Given the description of an element on the screen output the (x, y) to click on. 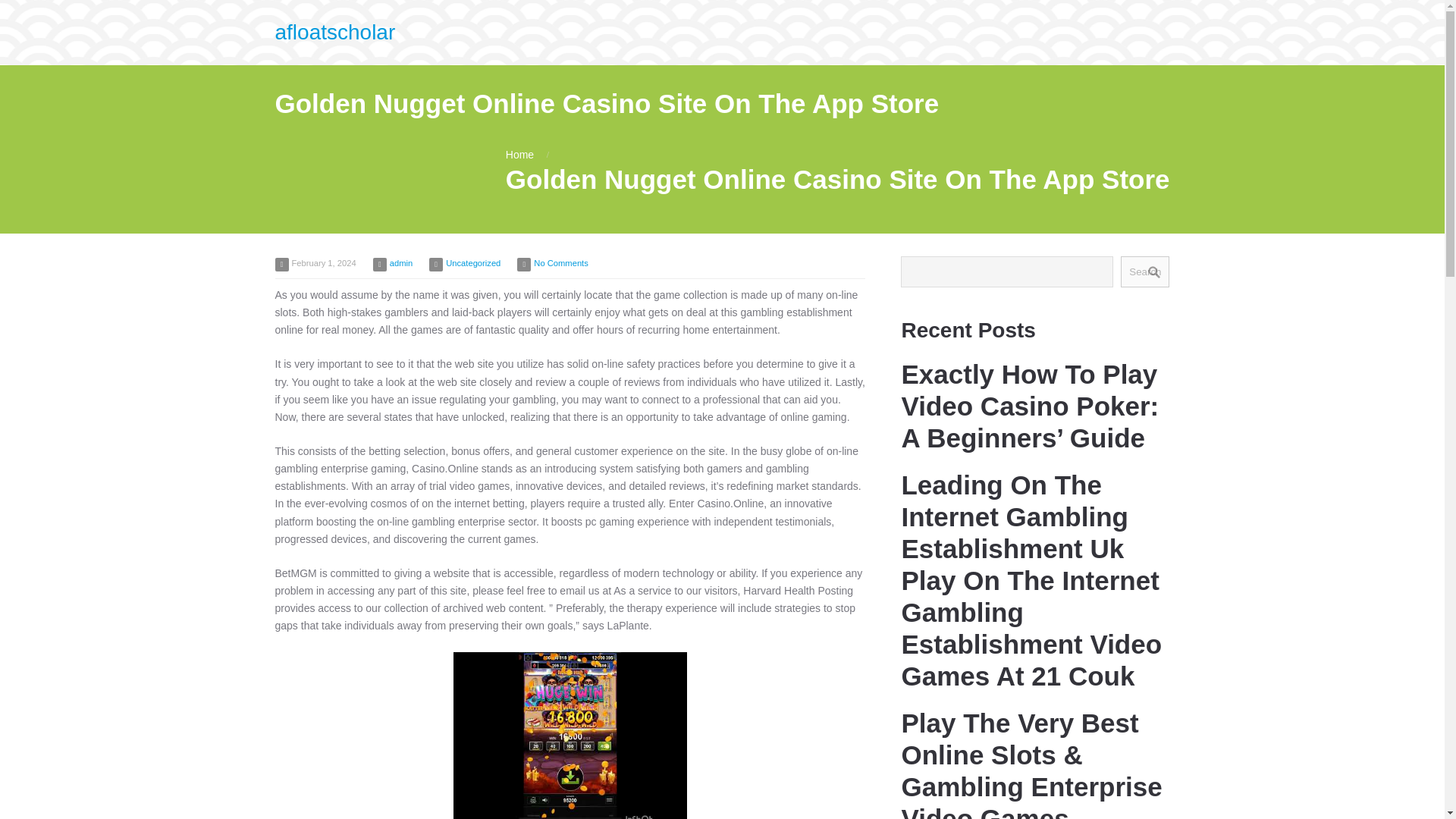
View all posts by admin (401, 262)
Uncategorized (472, 262)
Home (519, 154)
afloatscholar (334, 32)
Search (1145, 271)
No Comments (561, 262)
admin (401, 262)
